Given the description of an element on the screen output the (x, y) to click on. 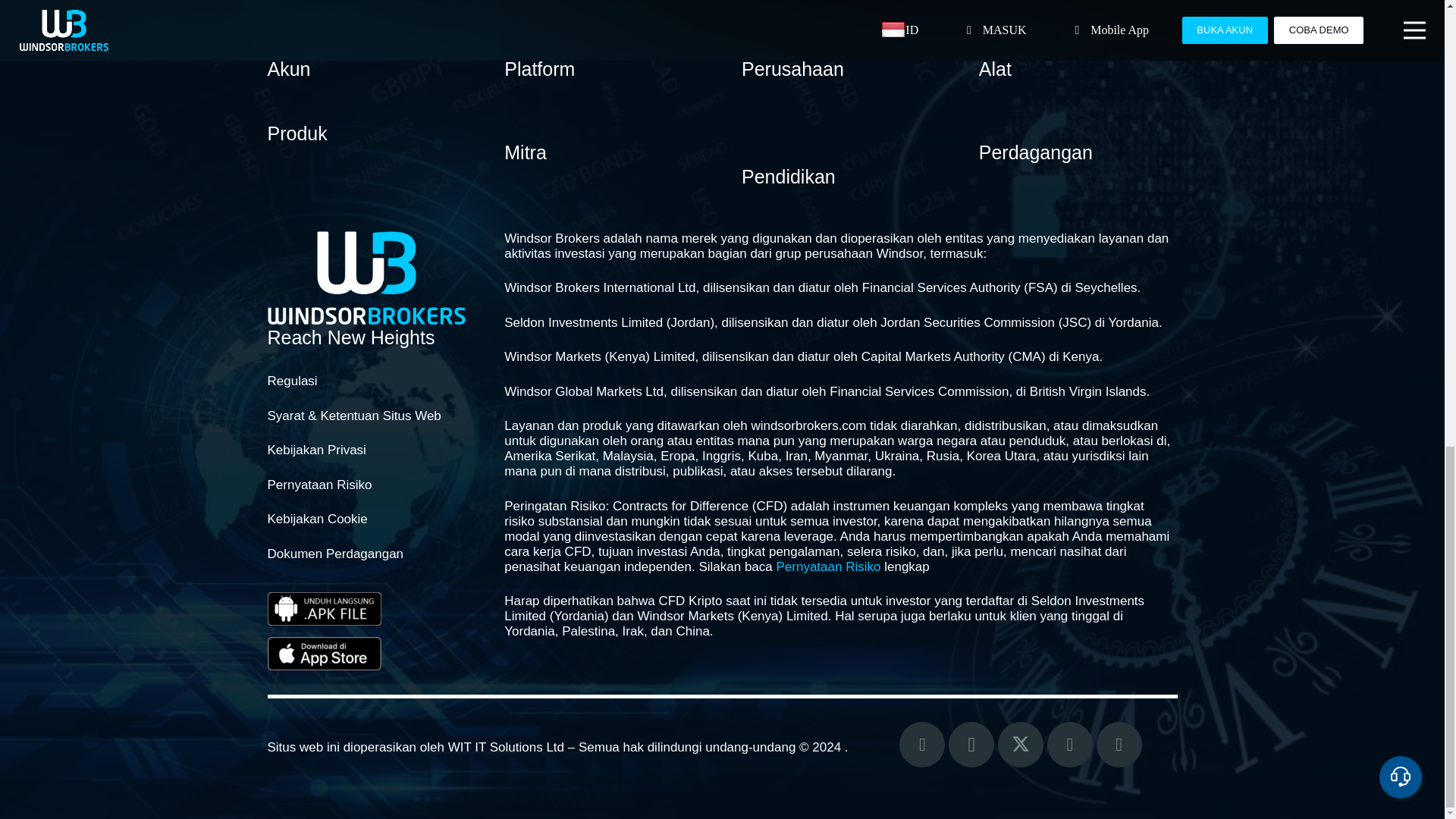
Twitter (1020, 744)
LinkedIn (1118, 744)
Instagram (971, 744)
Facebook (921, 744)
YouTube (1069, 744)
